Given the description of an element on the screen output the (x, y) to click on. 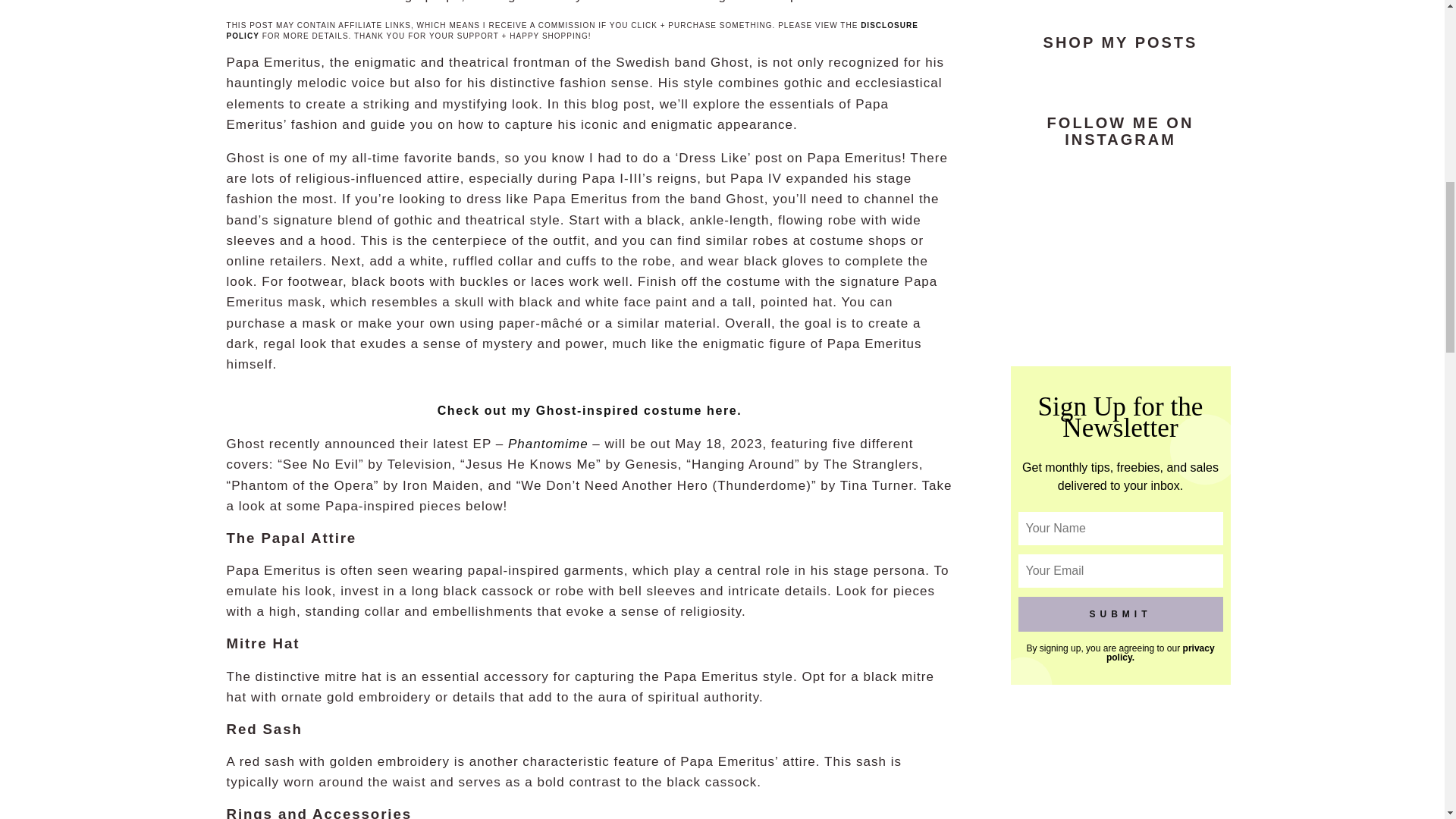
Submit (1120, 614)
